Given the description of an element on the screen output the (x, y) to click on. 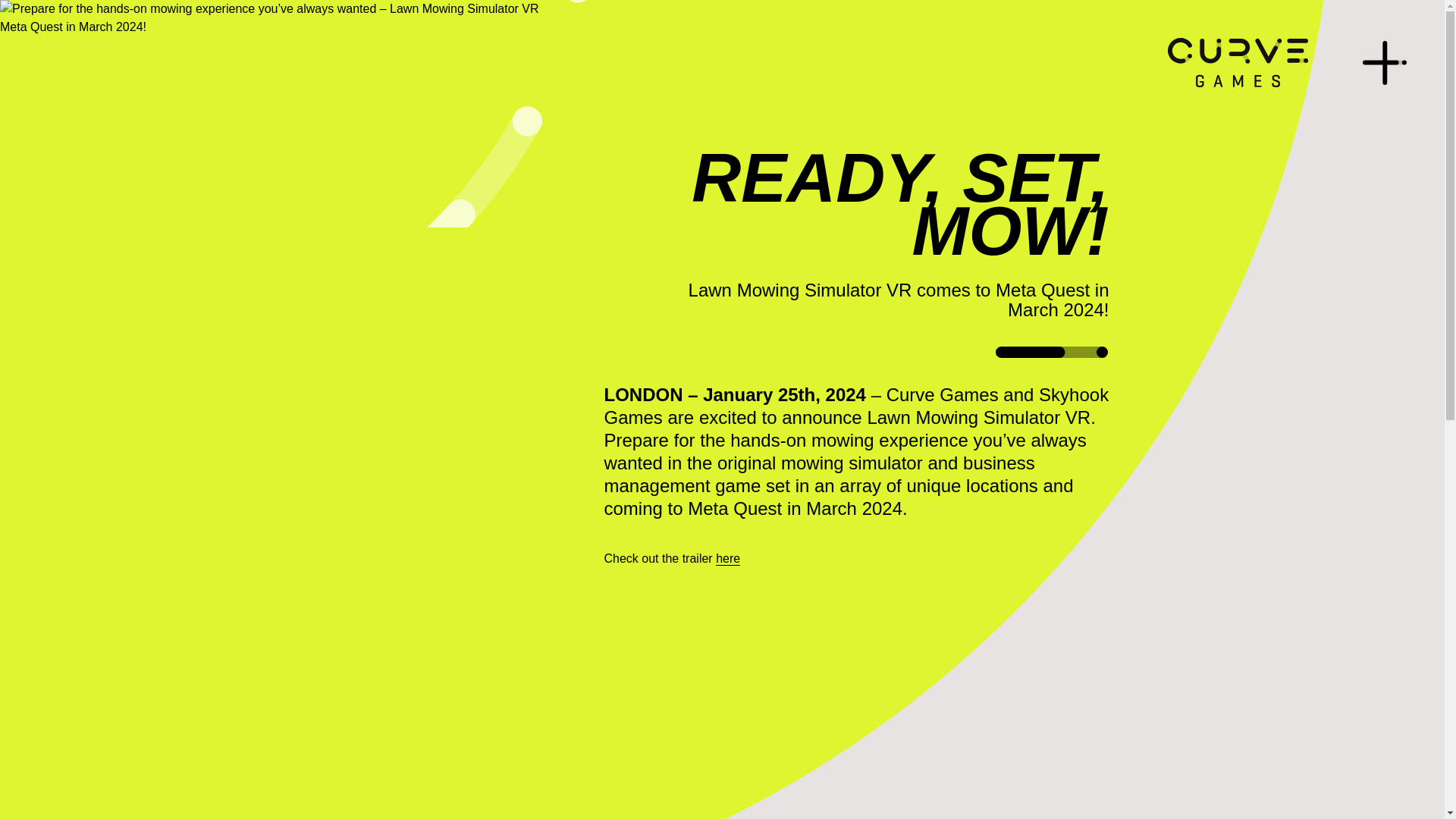
here (727, 558)
YouTube video player (815, 703)
